Given the description of an element on the screen output the (x, y) to click on. 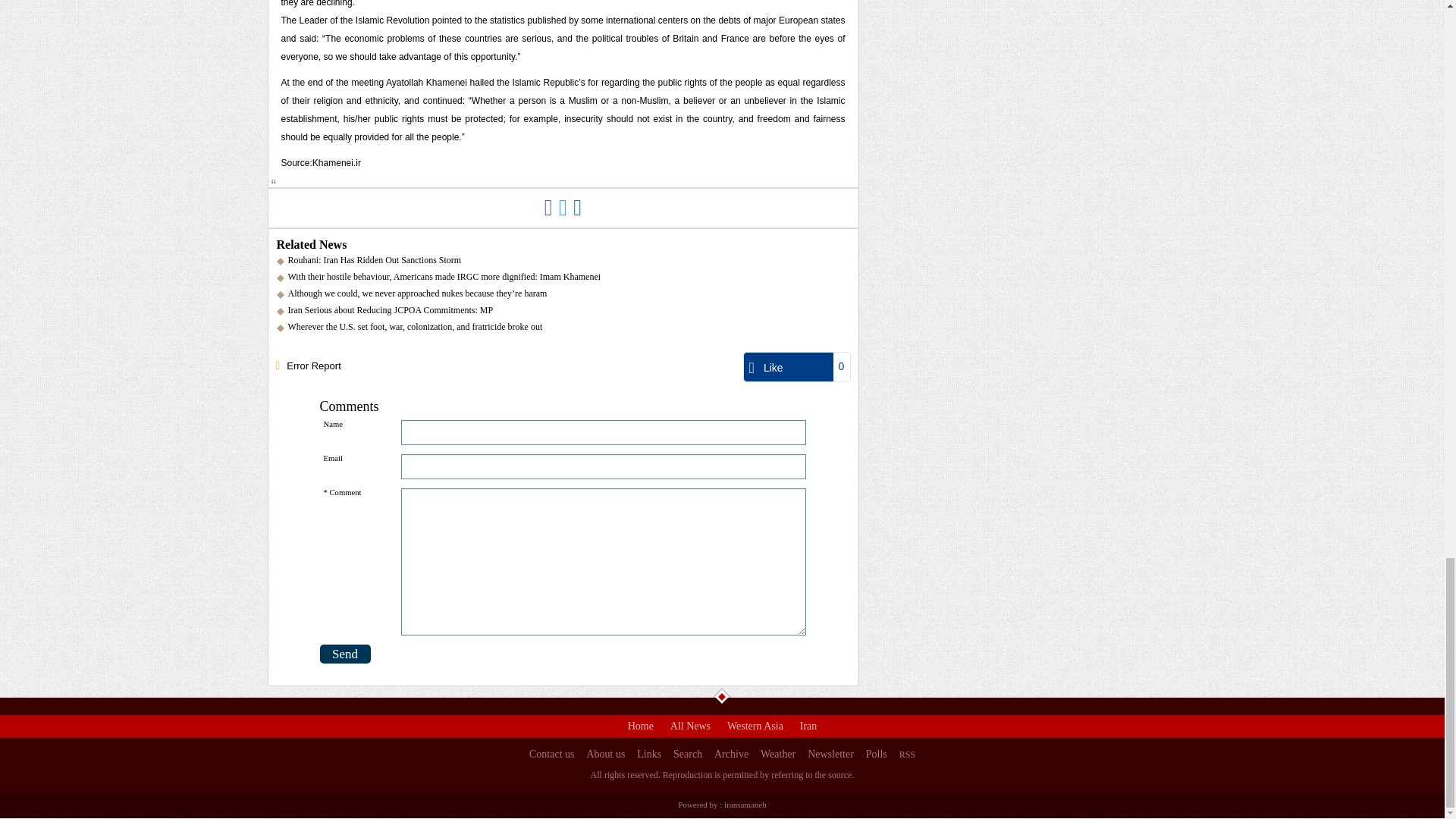
Send (345, 653)
